Given the description of an element on the screen output the (x, y) to click on. 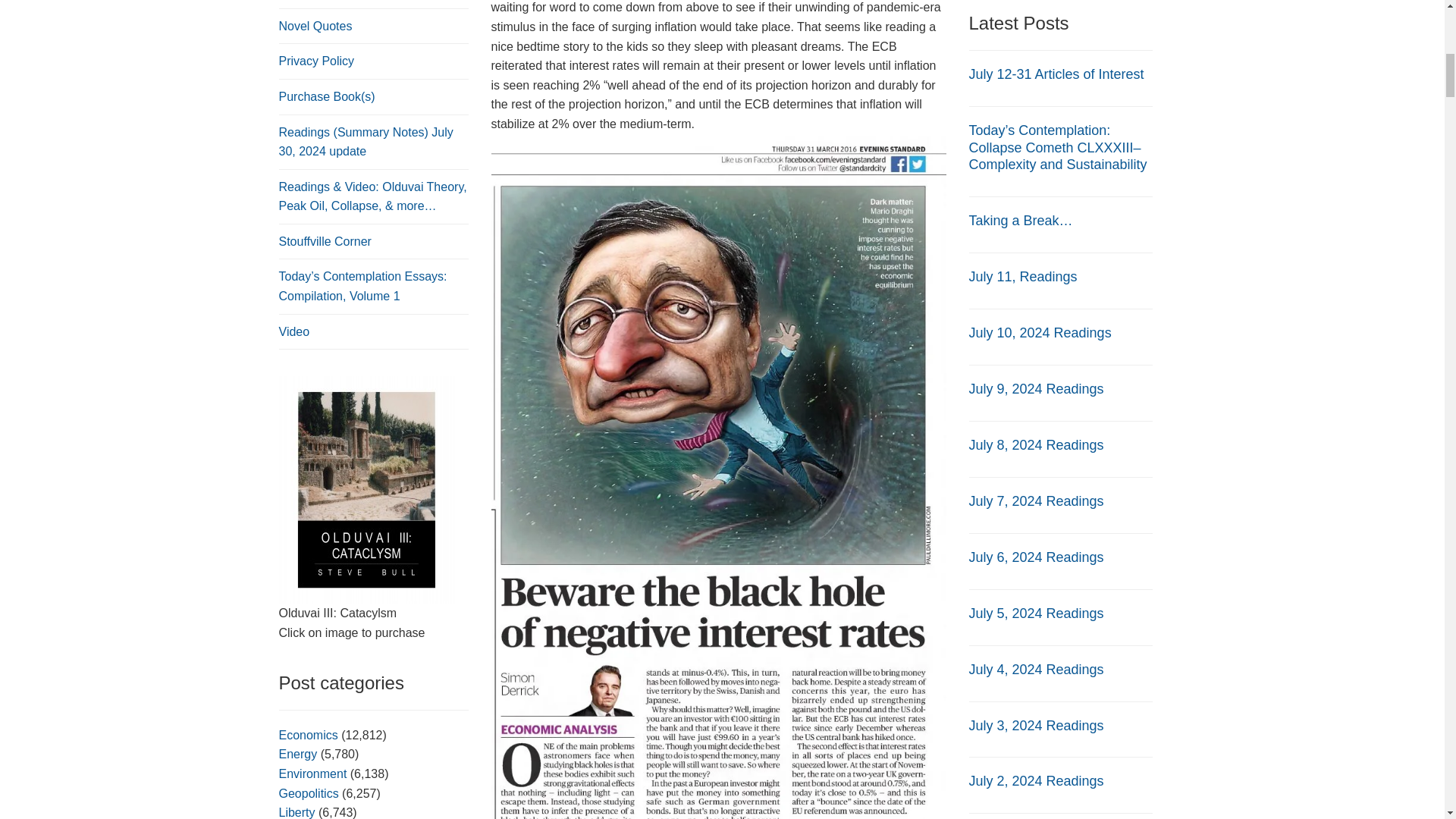
Energy (298, 753)
Liberty (297, 812)
Privacy Policy (317, 60)
Video (294, 331)
Economics (308, 735)
Geopolitics (309, 793)
Novel Quotes (315, 25)
Stouffville Corner (325, 241)
Environment (313, 773)
